Given the description of an element on the screen output the (x, y) to click on. 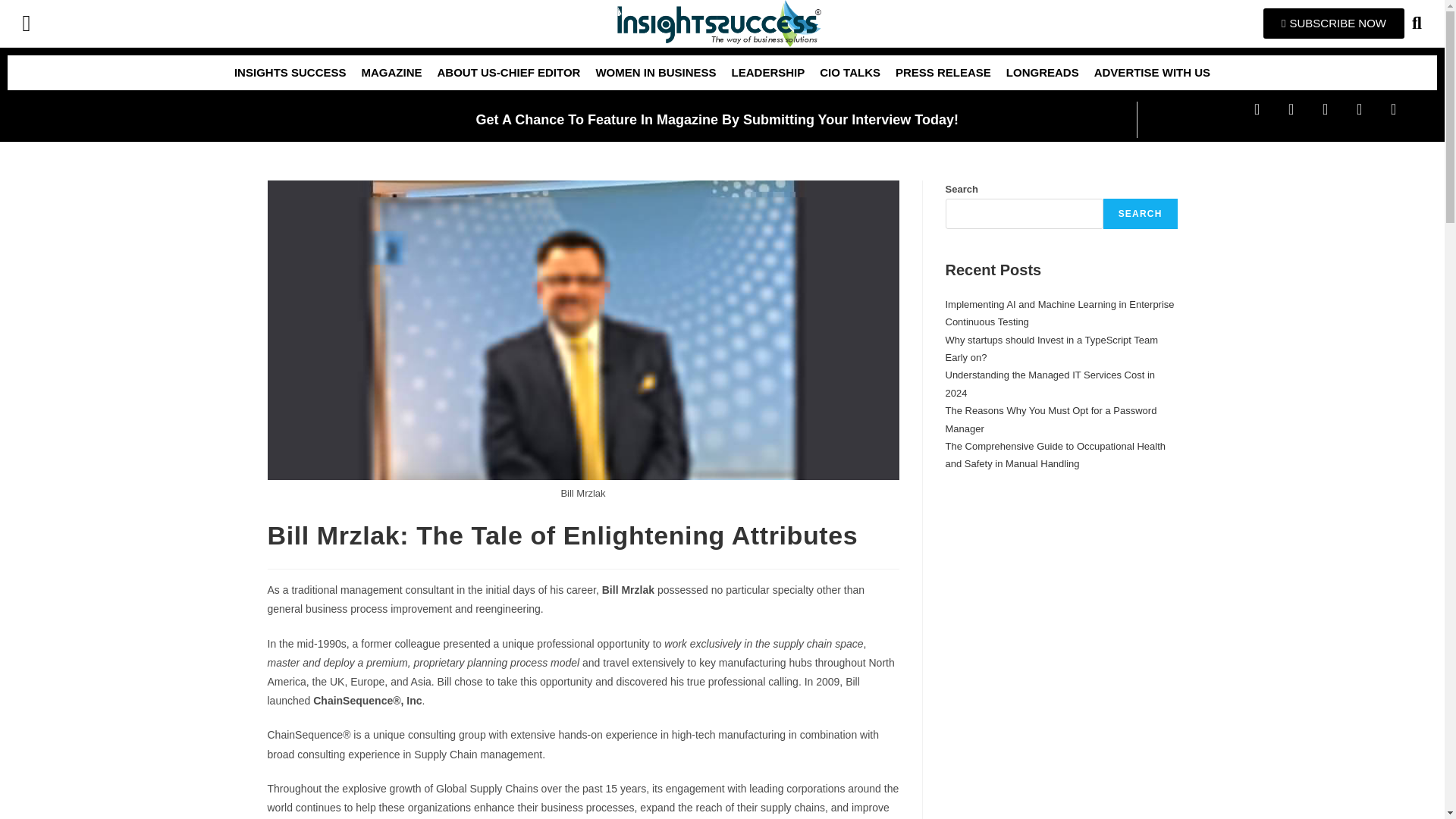
INSIGHTS SUCCESS (290, 72)
ABOUT US-CHIEF EDITOR (508, 72)
LONGREADS (1042, 72)
The Reasons Why You Must Opt for a Password Manager (1050, 419)
SUBSCRIBE NOW (1334, 23)
Why startups should Invest in a TypeScript Team Early on? (1050, 348)
LEADERSHIP (767, 72)
